Given the description of an element on the screen output the (x, y) to click on. 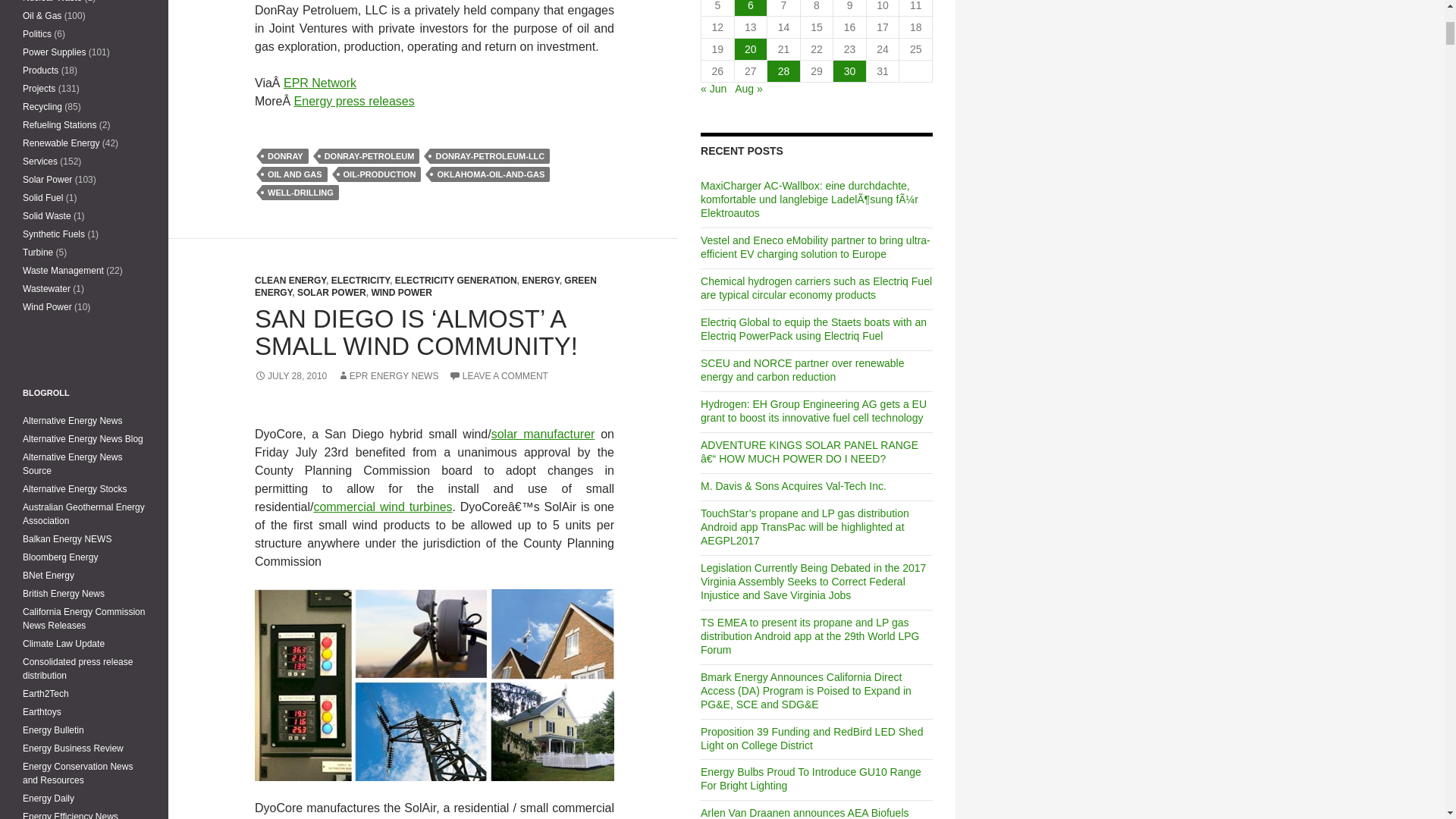
DONRAY-PETROLEUM (369, 155)
SOLAR POWER (331, 292)
OIL AND GAS (294, 174)
Energy press releases (354, 101)
solar manufacturer (543, 433)
ENERGY (540, 280)
OKLAHOMA-OIL-AND-GAS (490, 174)
JULY 28, 2010 (290, 376)
WELL-DRILLING (300, 192)
WIND POWER (401, 292)
ELECTRICITY GENERATION (455, 280)
OIL-PRODUCTION (379, 174)
CLEAN ENERGY (290, 280)
DONRAY-PETROLEUM-LLC (489, 155)
GREEN ENERGY (425, 286)
